Given the description of an element on the screen output the (x, y) to click on. 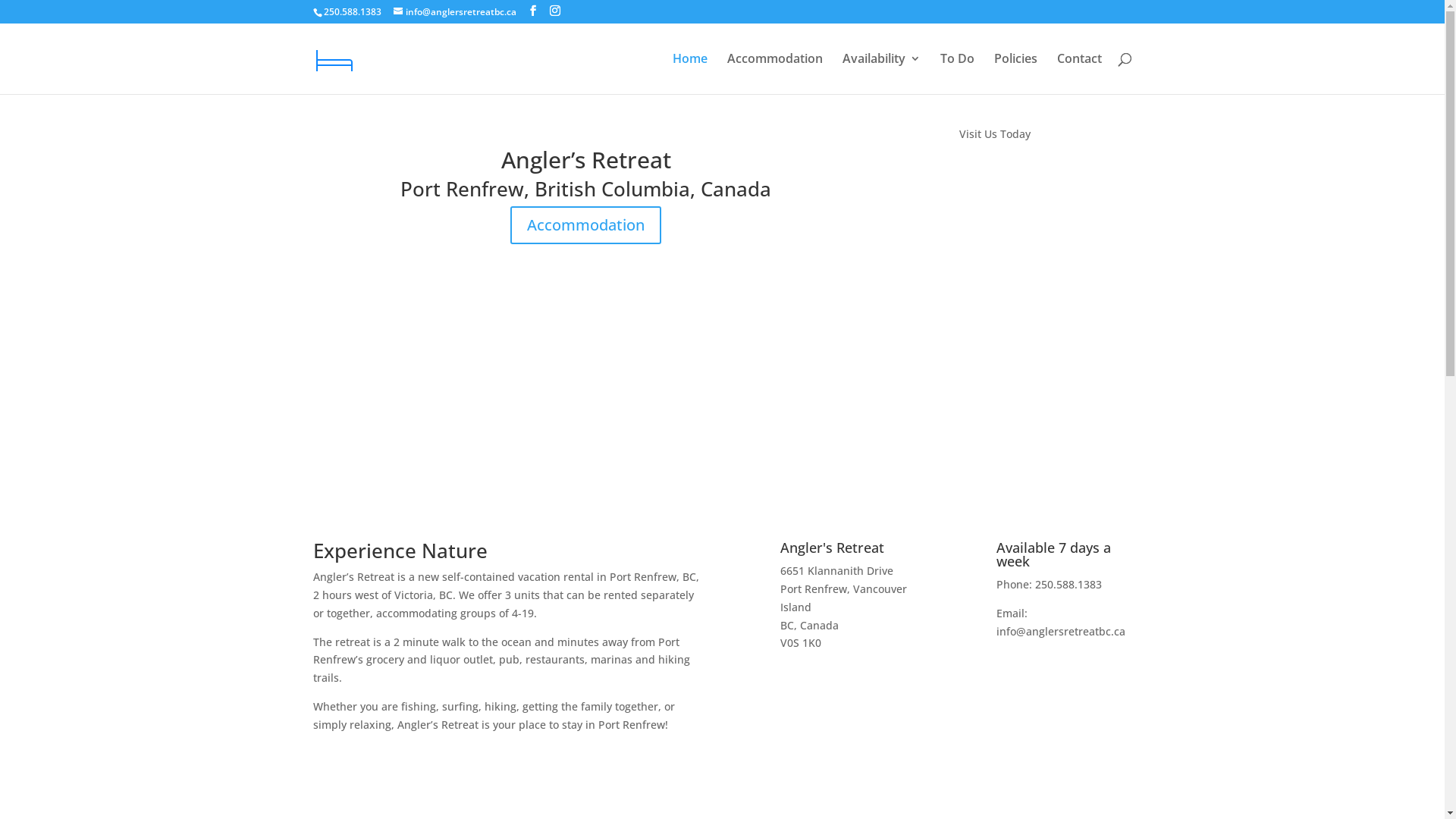
Policies Element type: text (1014, 73)
Availability Element type: text (880, 73)
Accommodation Element type: text (774, 73)
Home Element type: text (688, 73)
Accommodation Element type: text (585, 225)
Contact Element type: text (1079, 73)
info@anglersretreatbc.ca Element type: text (453, 11)
To Do Element type: text (957, 73)
